Given the description of an element on the screen output the (x, y) to click on. 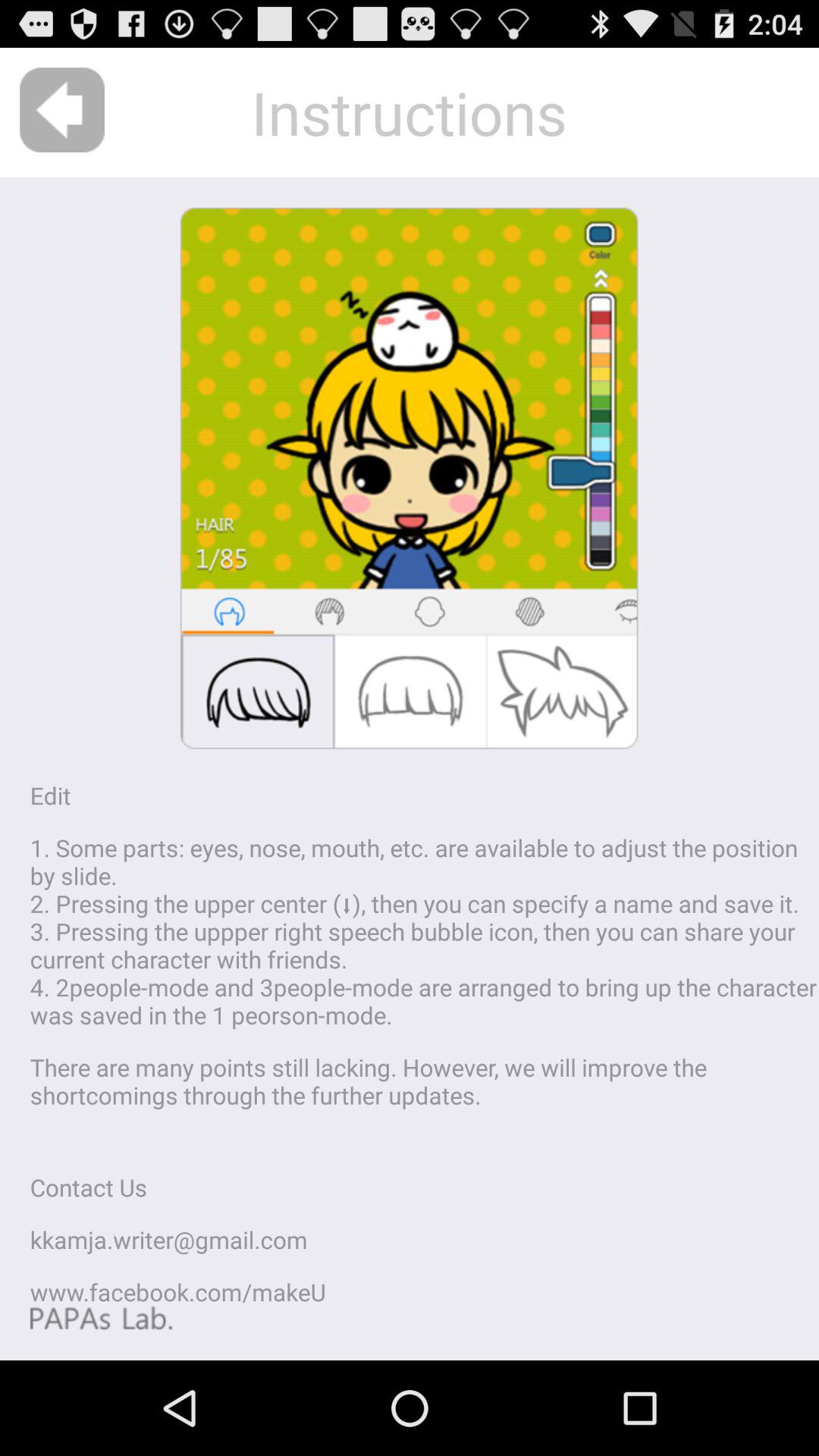
flip to the www facebook com app (177, 1291)
